Given the description of an element on the screen output the (x, y) to click on. 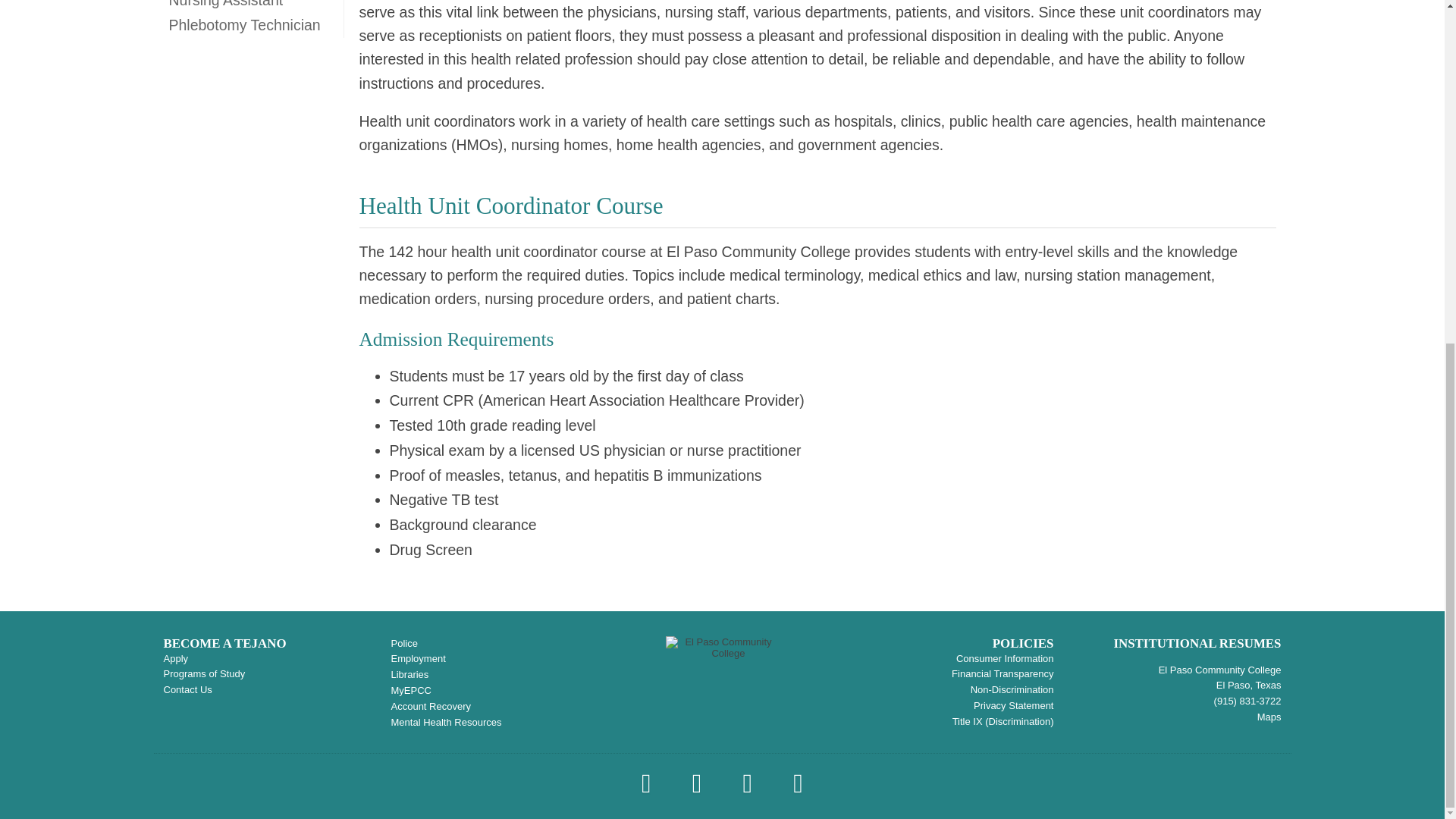
MyEPCC (410, 690)
Twitter (647, 788)
POLICIES (1023, 643)
Programs of Study (204, 673)
Libraries (410, 674)
Instagram (748, 788)
Nursing Assistant (247, 6)
Police (404, 643)
Account Recovery (431, 706)
Facebook (697, 788)
Apply (176, 658)
Mental Health Resources (446, 722)
Youtube (798, 788)
Phlebotomy Technician (247, 25)
Contact Us (187, 689)
